Given the description of an element on the screen output the (x, y) to click on. 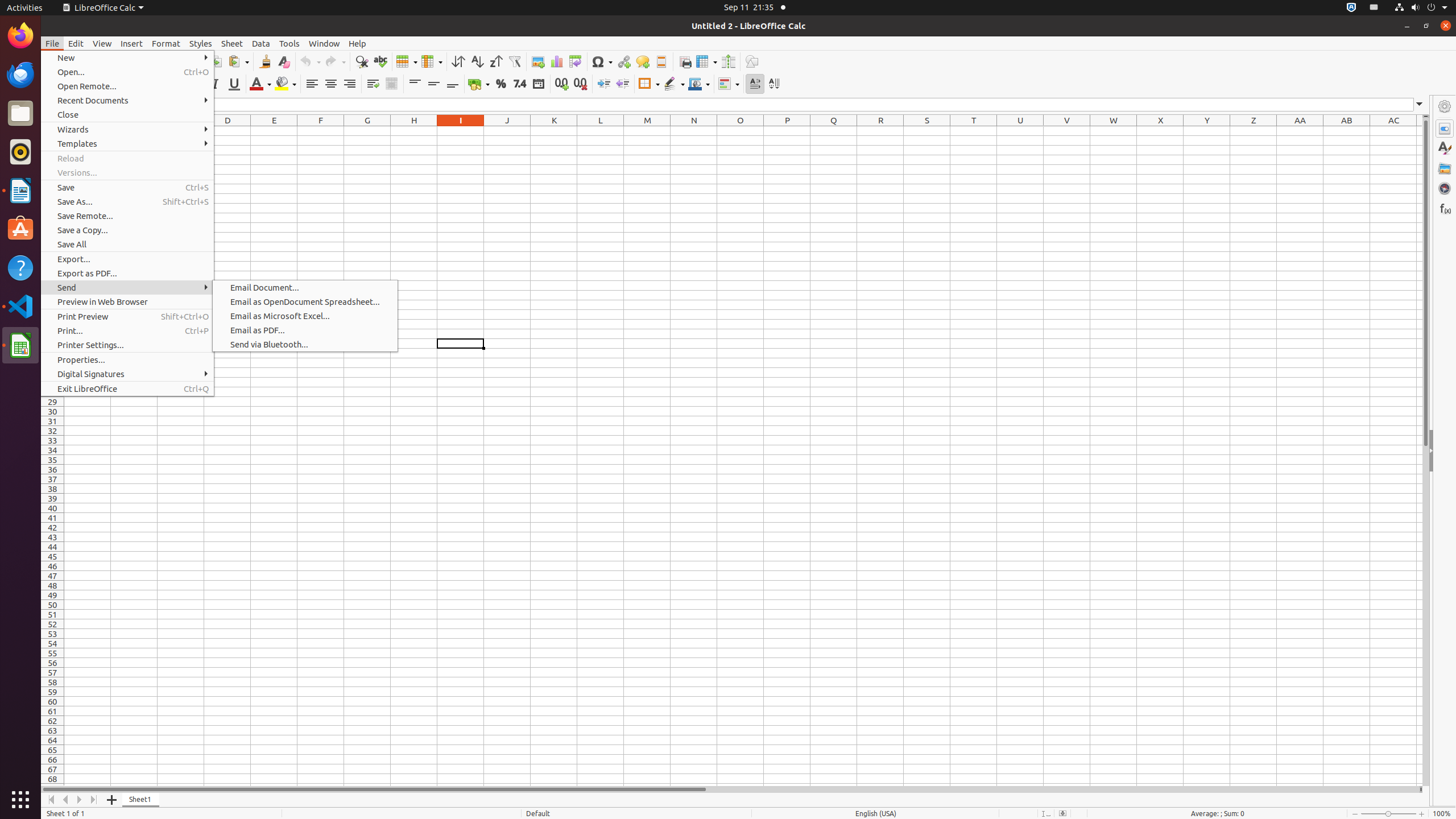
Open... Element type: menu-item (126, 71)
Close Element type: menu-item (126, 114)
Sort Descending Element type: push-button (495, 61)
Hyperlink Element type: toggle-button (623, 61)
Horizontal scroll bar Element type: scroll-bar (729, 789)
